Given the description of an element on the screen output the (x, y) to click on. 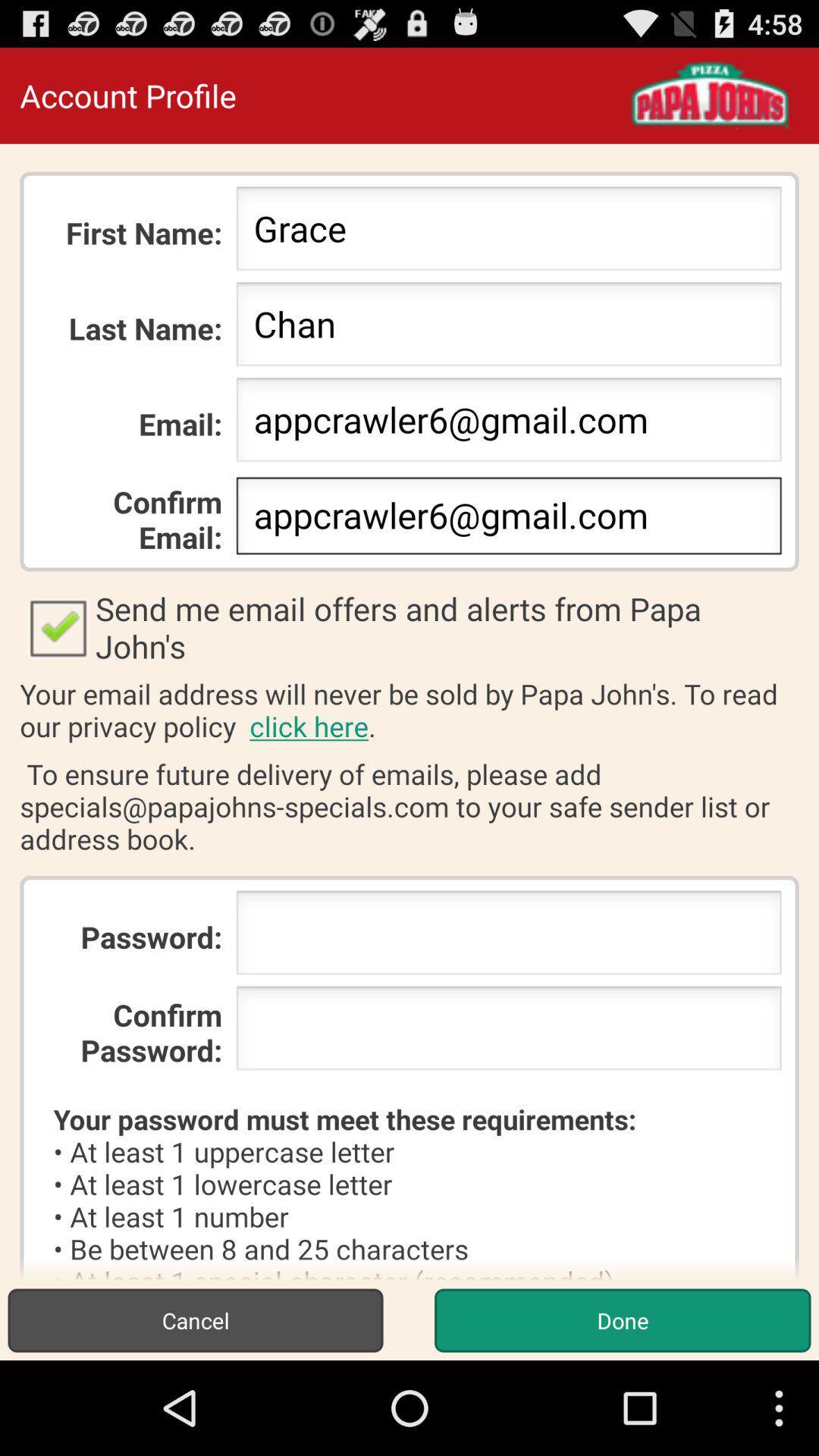
launch icon below the your password must app (195, 1320)
